Given the description of an element on the screen output the (x, y) to click on. 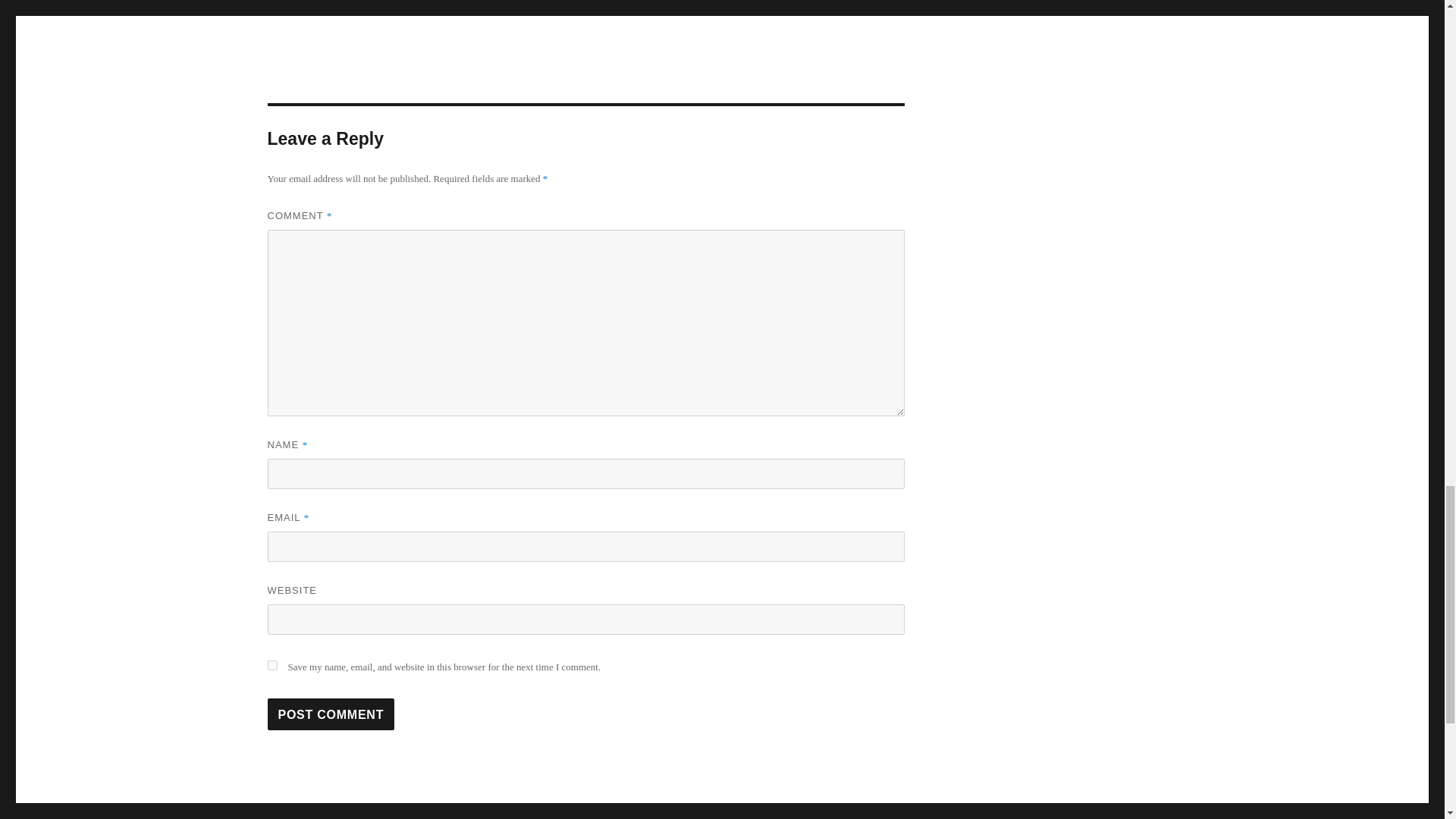
Post Comment (330, 714)
Post Comment (271, 665)
